Given the description of an element on the screen output the (x, y) to click on. 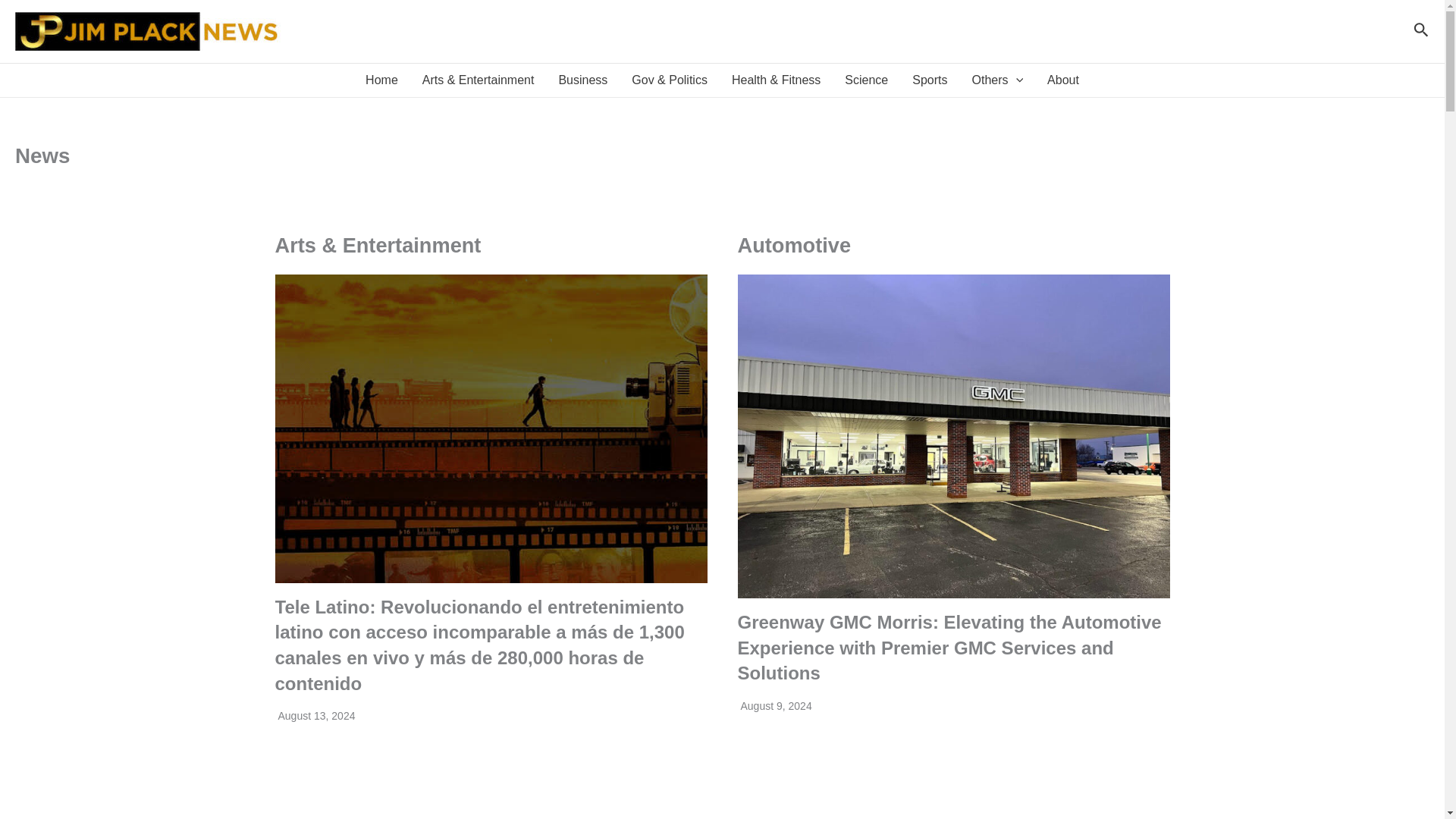
Sports (929, 80)
Home (381, 80)
Business (583, 80)
Science (865, 80)
Others (997, 80)
About (1062, 80)
